Given the description of an element on the screen output the (x, y) to click on. 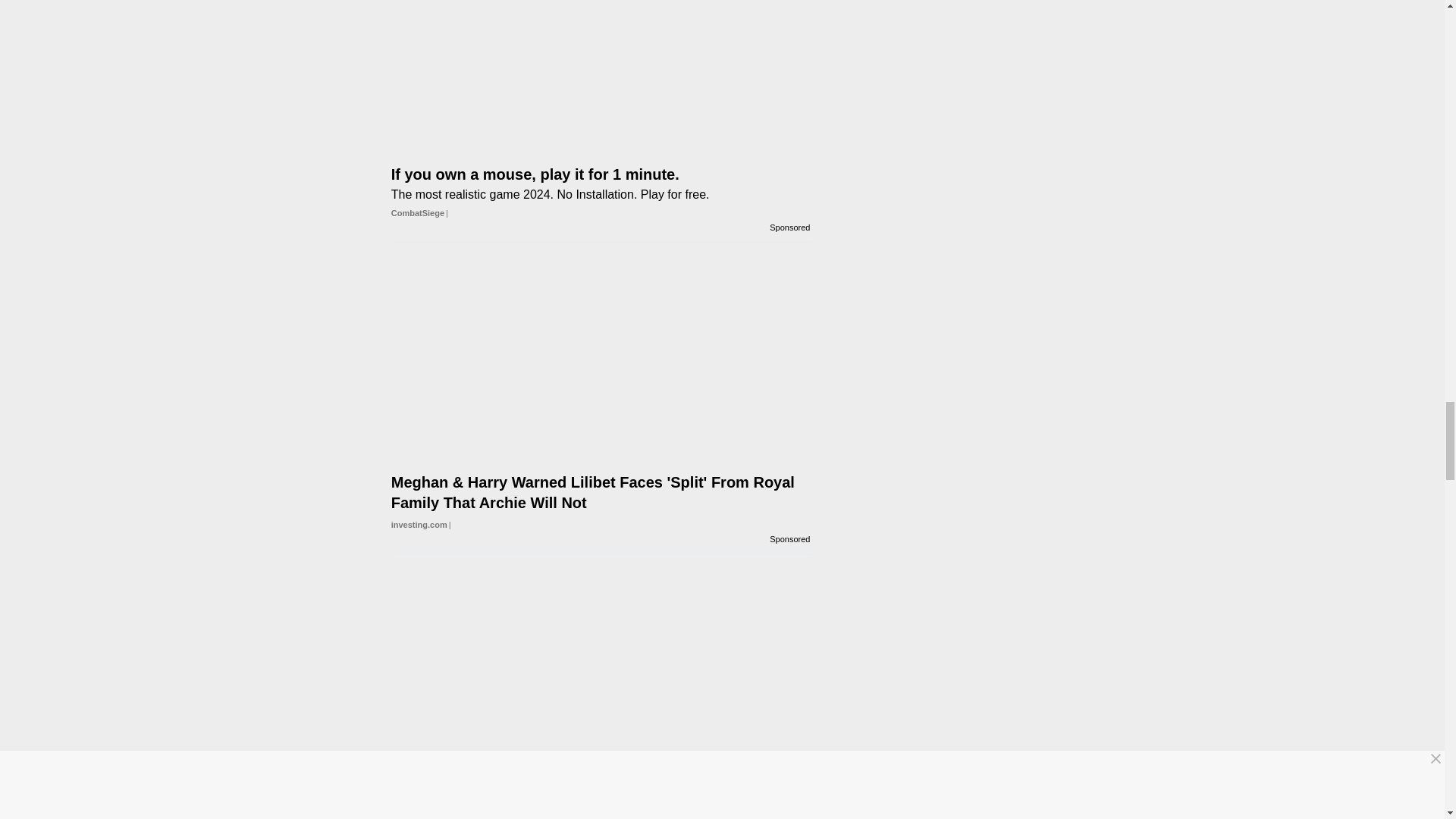
If you own a mouse, play it for 1 minute. (600, 164)
If you own a mouse, play it for 1 minute. (600, 65)
